Given the description of an element on the screen output the (x, y) to click on. 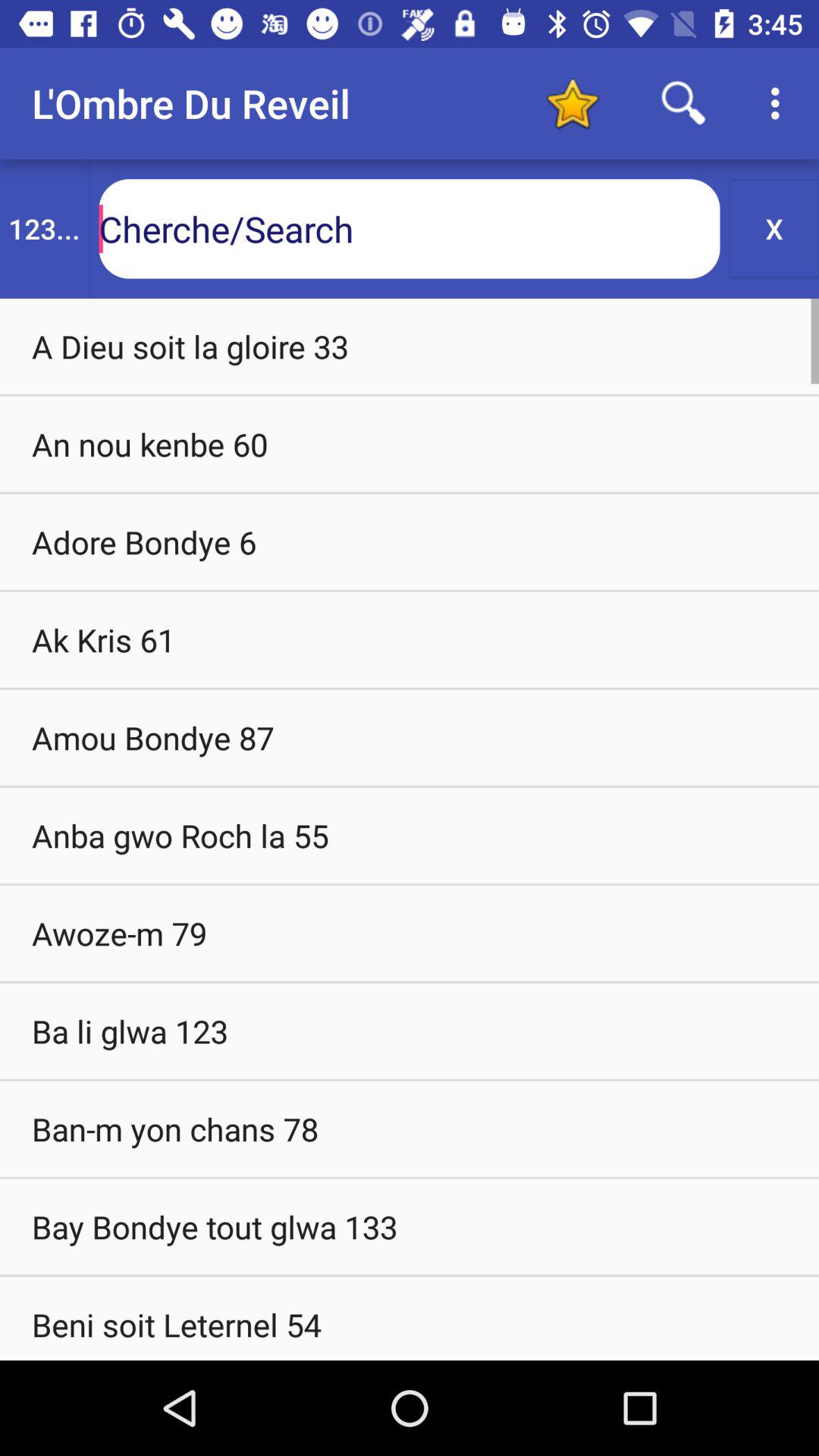
turn off x (774, 228)
